Given the description of an element on the screen output the (x, y) to click on. 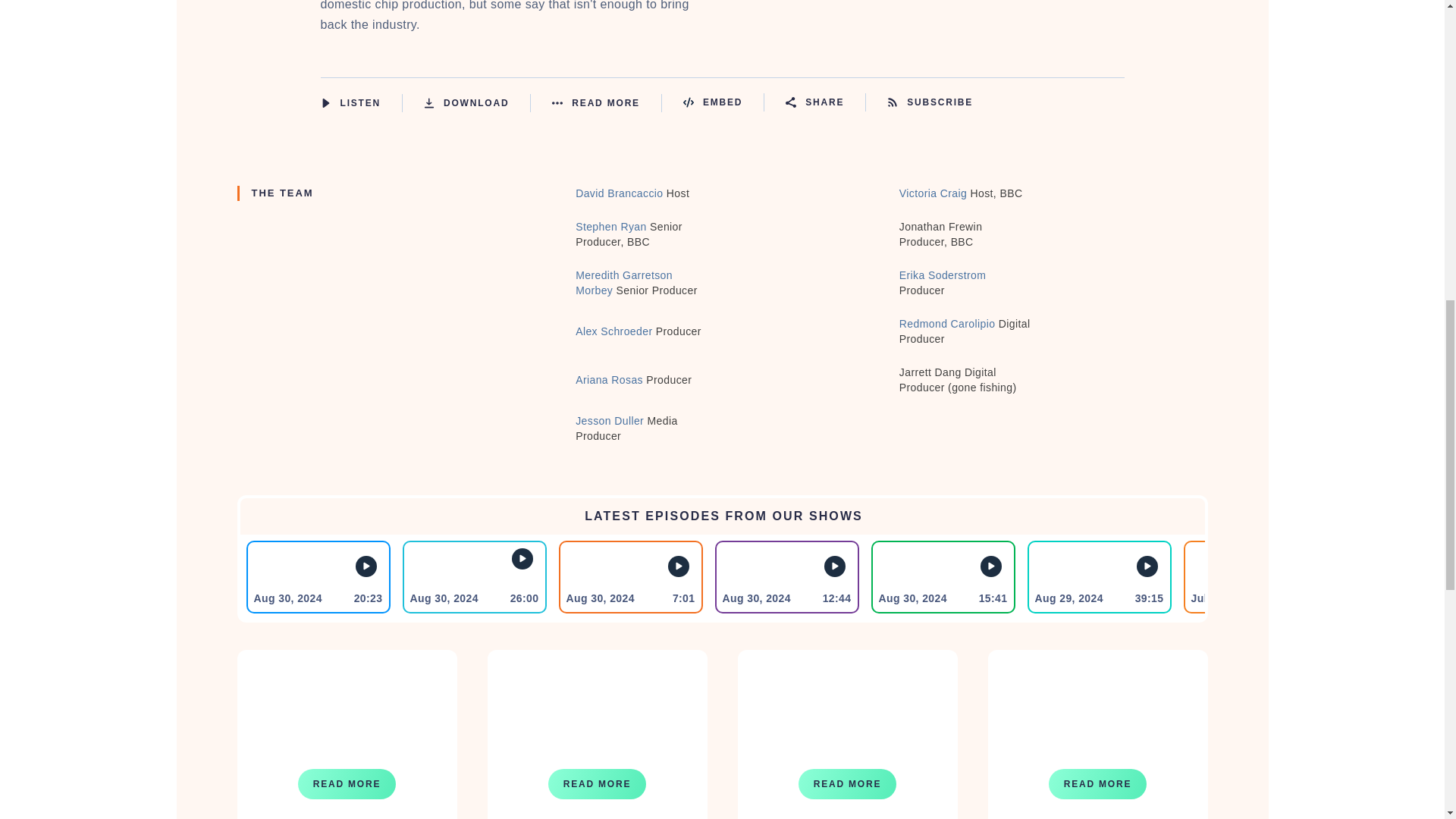
LISTEN (325, 102)
Listen Now (360, 103)
Download (477, 103)
Listen Now (365, 566)
Read More (606, 103)
